Given the description of an element on the screen output the (x, y) to click on. 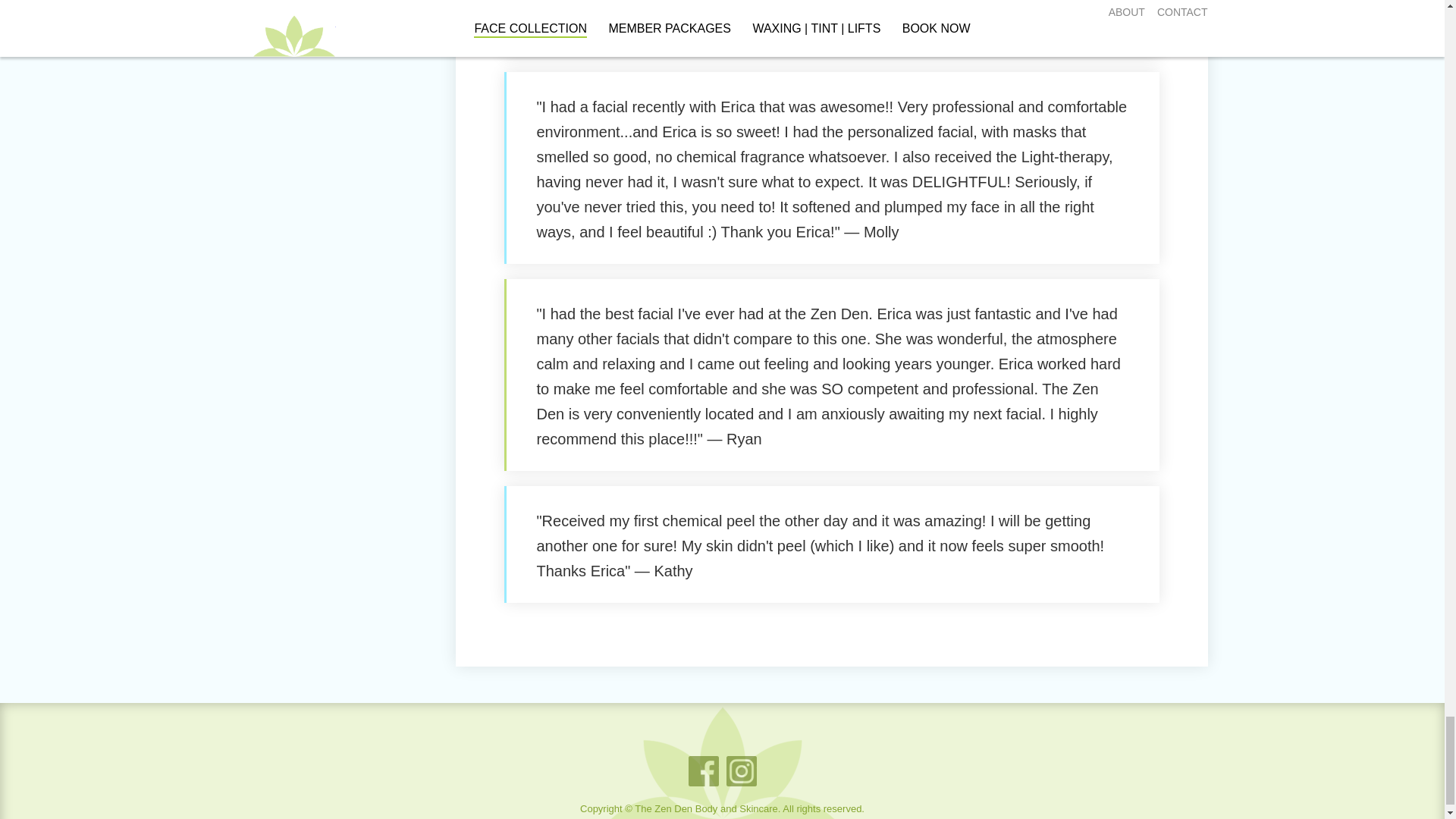
Instagram (741, 770)
Facebook (703, 770)
mattbarn.es (737, 818)
